Given the description of an element on the screen output the (x, y) to click on. 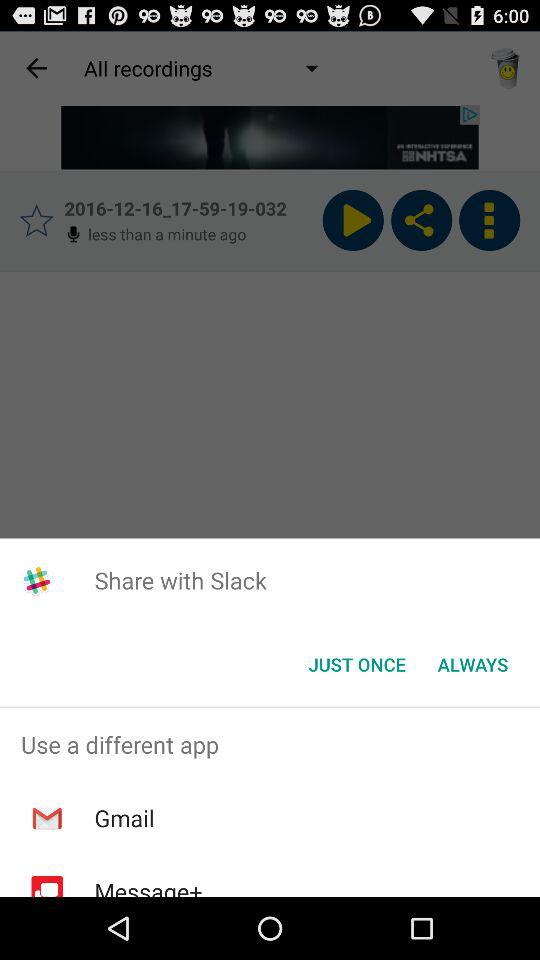
press the always (472, 664)
